Given the description of an element on the screen output the (x, y) to click on. 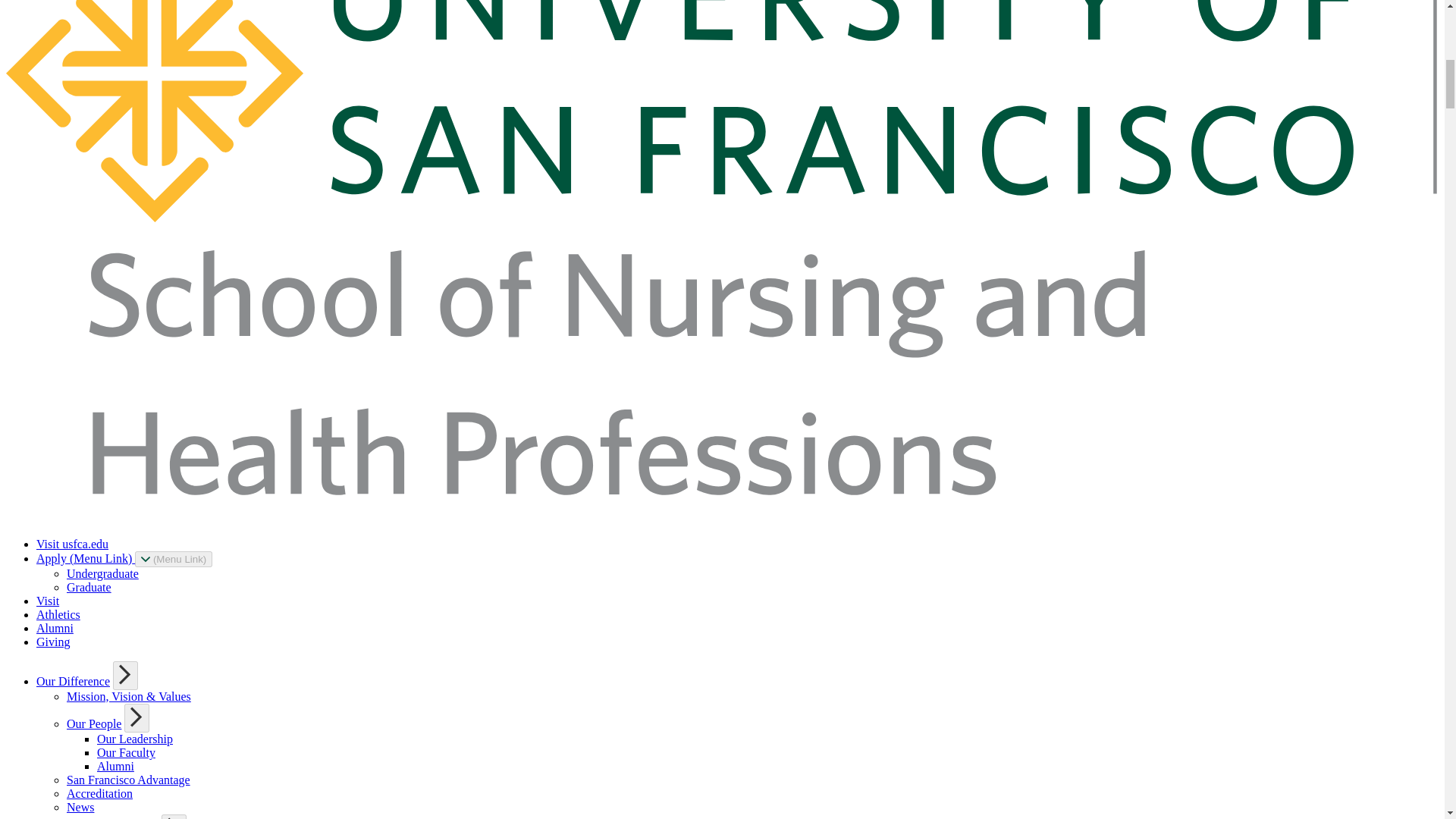
Visit (47, 600)
Undergraduate (102, 573)
Our Leadership (135, 738)
Our Difference (73, 680)
News (80, 807)
Giving (52, 641)
Alumni (115, 766)
Athletics (58, 614)
Our People (93, 723)
Our Faculty (126, 752)
San Francisco Advantage (128, 779)
Graduate (89, 586)
Alumni (55, 627)
Visit usfca.edu (71, 543)
Accreditation (99, 793)
